Given the description of an element on the screen output the (x, y) to click on. 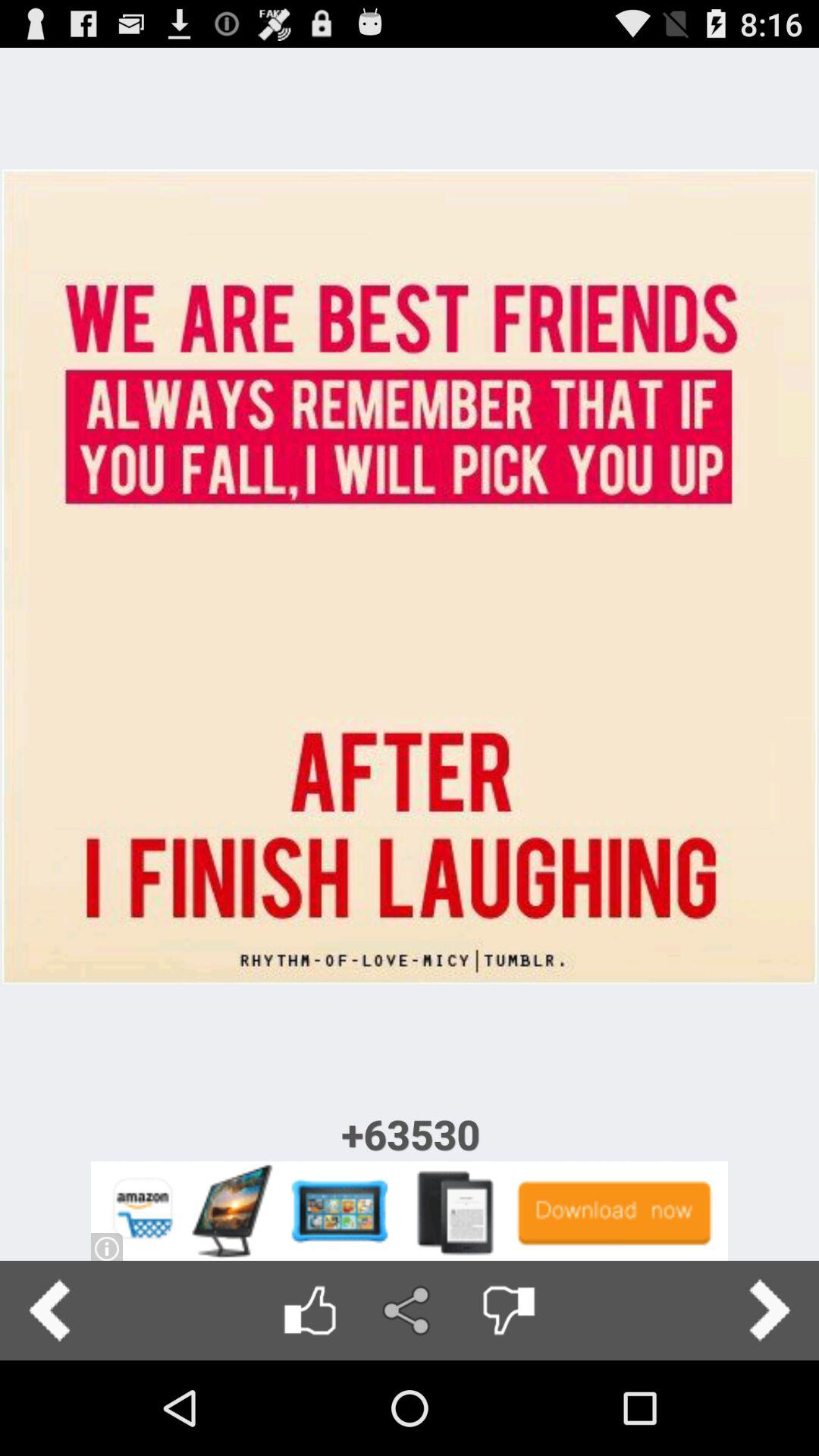
go back (49, 1310)
